Given the description of an element on the screen output the (x, y) to click on. 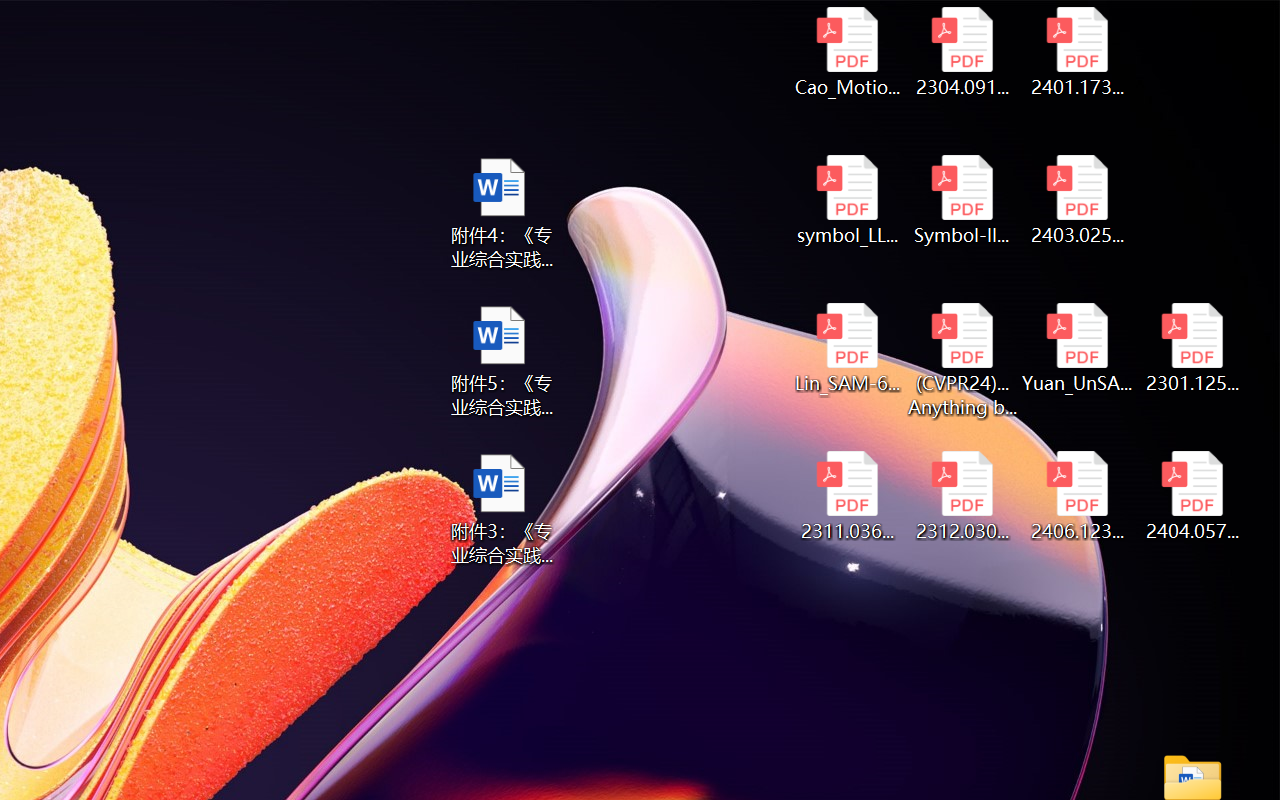
2301.12597v3.pdf (1192, 348)
